Given the description of an element on the screen output the (x, y) to click on. 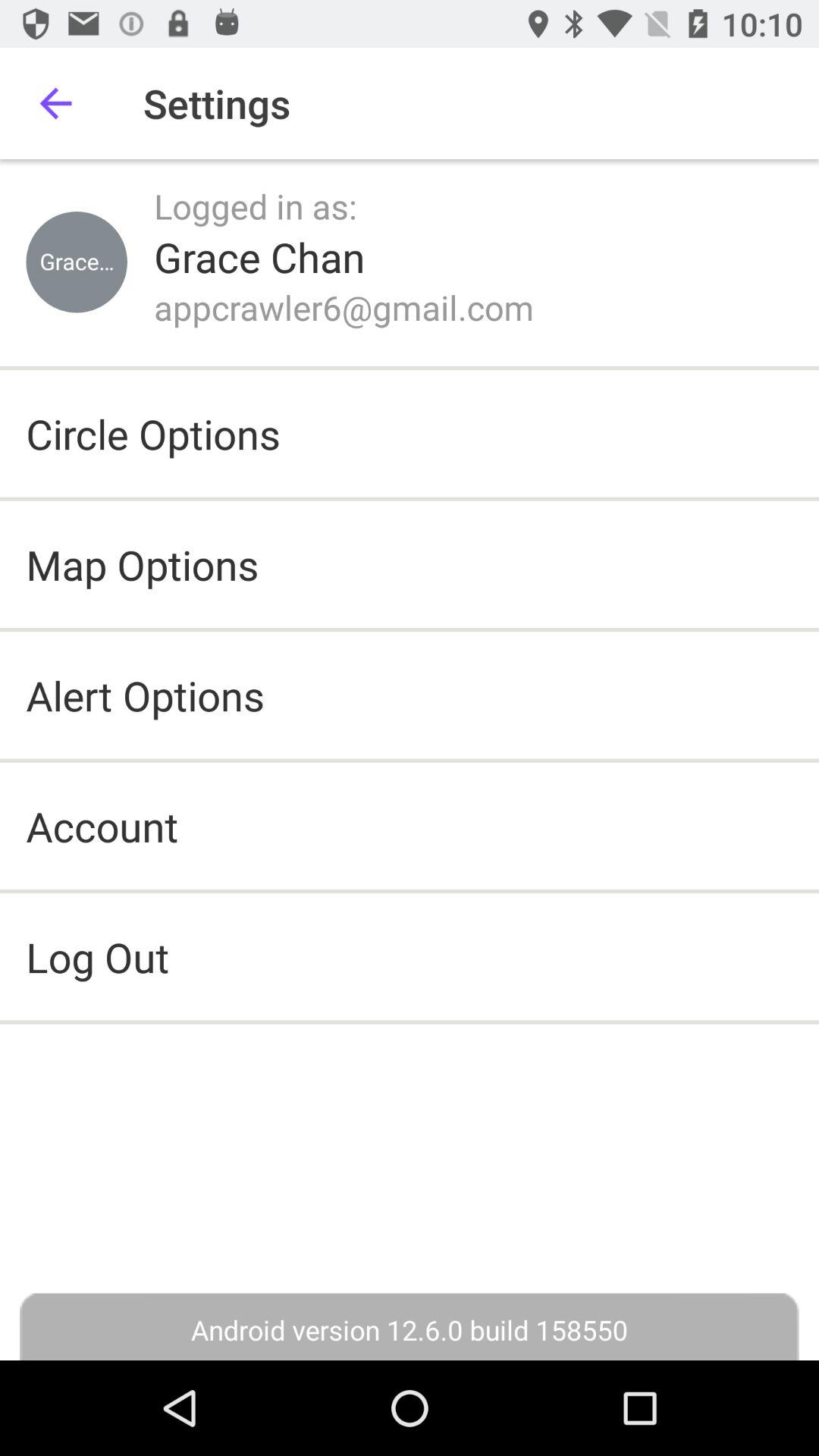
tap the icon next to the settings item (55, 103)
